Given the description of an element on the screen output the (x, y) to click on. 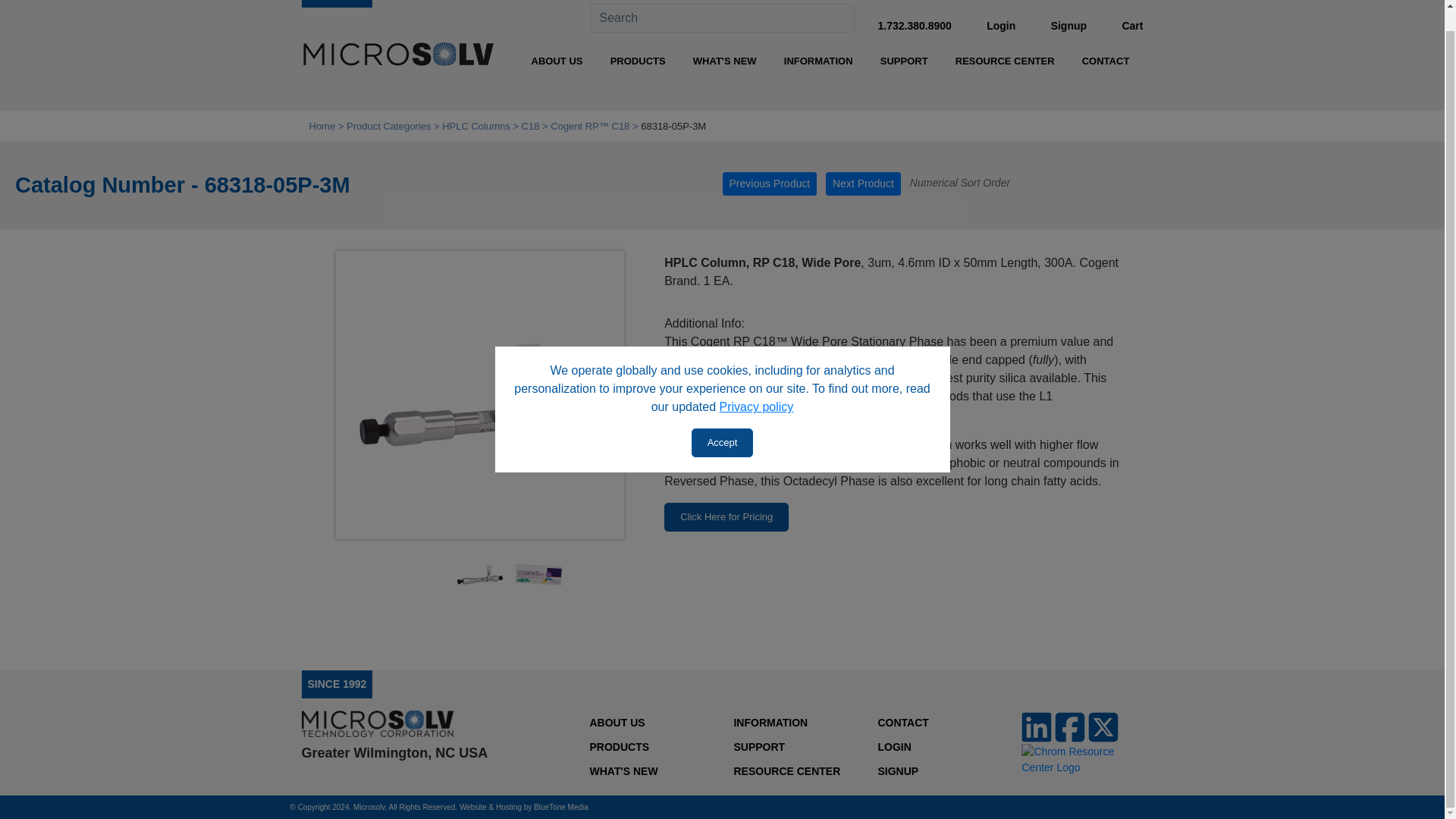
Products (637, 61)
Login (1000, 25)
PRODUCTS (637, 61)
Accept (722, 421)
Privacy policy (756, 386)
About Us (557, 61)
Blog (724, 61)
Login (1000, 25)
Signup (1068, 25)
Signup (1068, 25)
Information (818, 61)
Micro Solv Technology Corporation (398, 55)
ABOUT US (557, 61)
Cart (1131, 25)
1.732.380.8900 (913, 25)
